Given the description of an element on the screen output the (x, y) to click on. 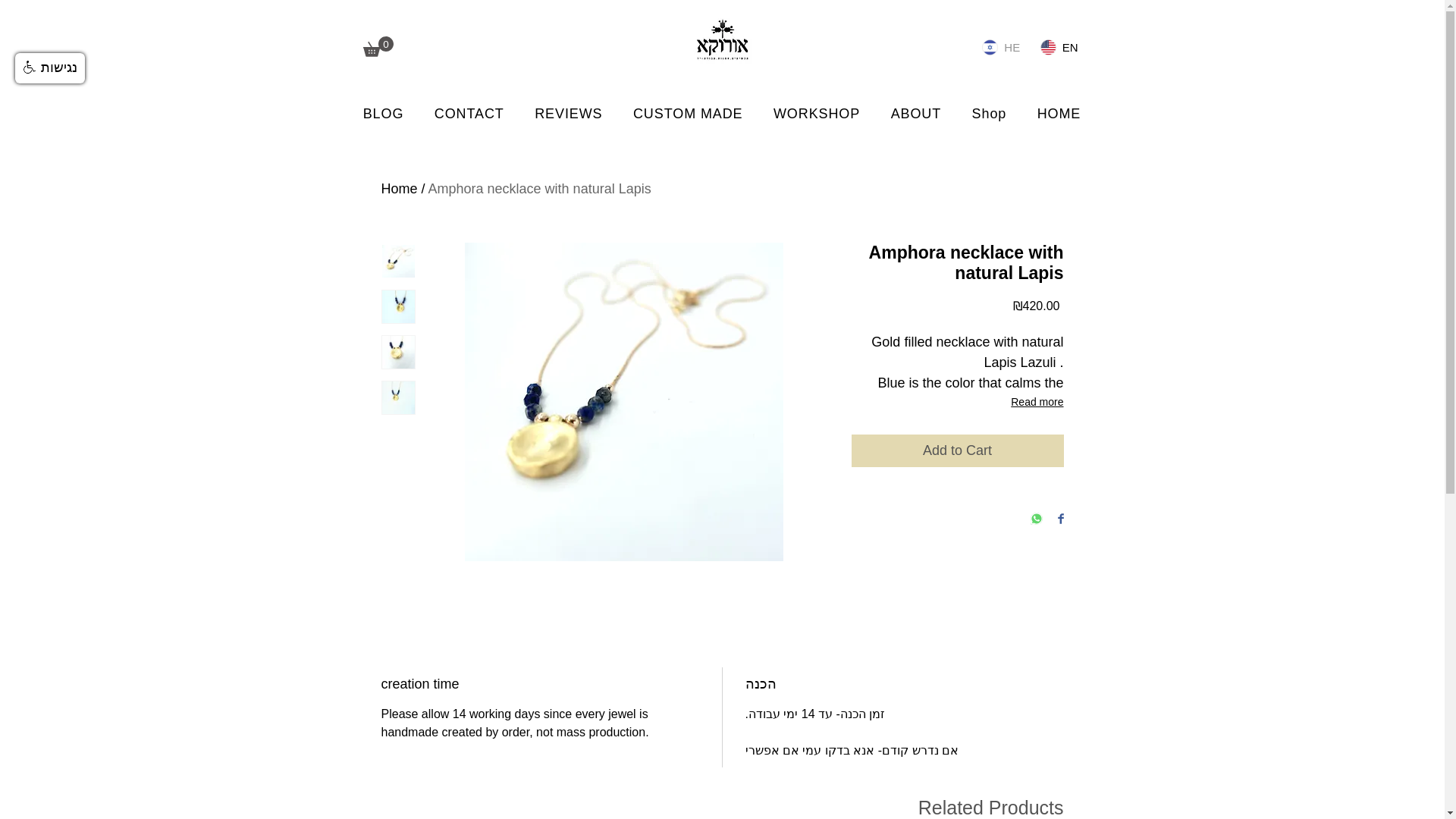
HE (1000, 46)
0 (377, 46)
Shop (988, 113)
Add to Cart (956, 450)
CONTACT (469, 113)
CUSTOM MADE (688, 113)
Read more (956, 401)
Home (398, 188)
0 (377, 46)
BLOG (382, 113)
Amphora necklace with natural Lapis (539, 188)
HOME (1059, 113)
ABOUT (915, 113)
REVIEWS (568, 113)
EN (1058, 46)
